Given the description of an element on the screen output the (x, y) to click on. 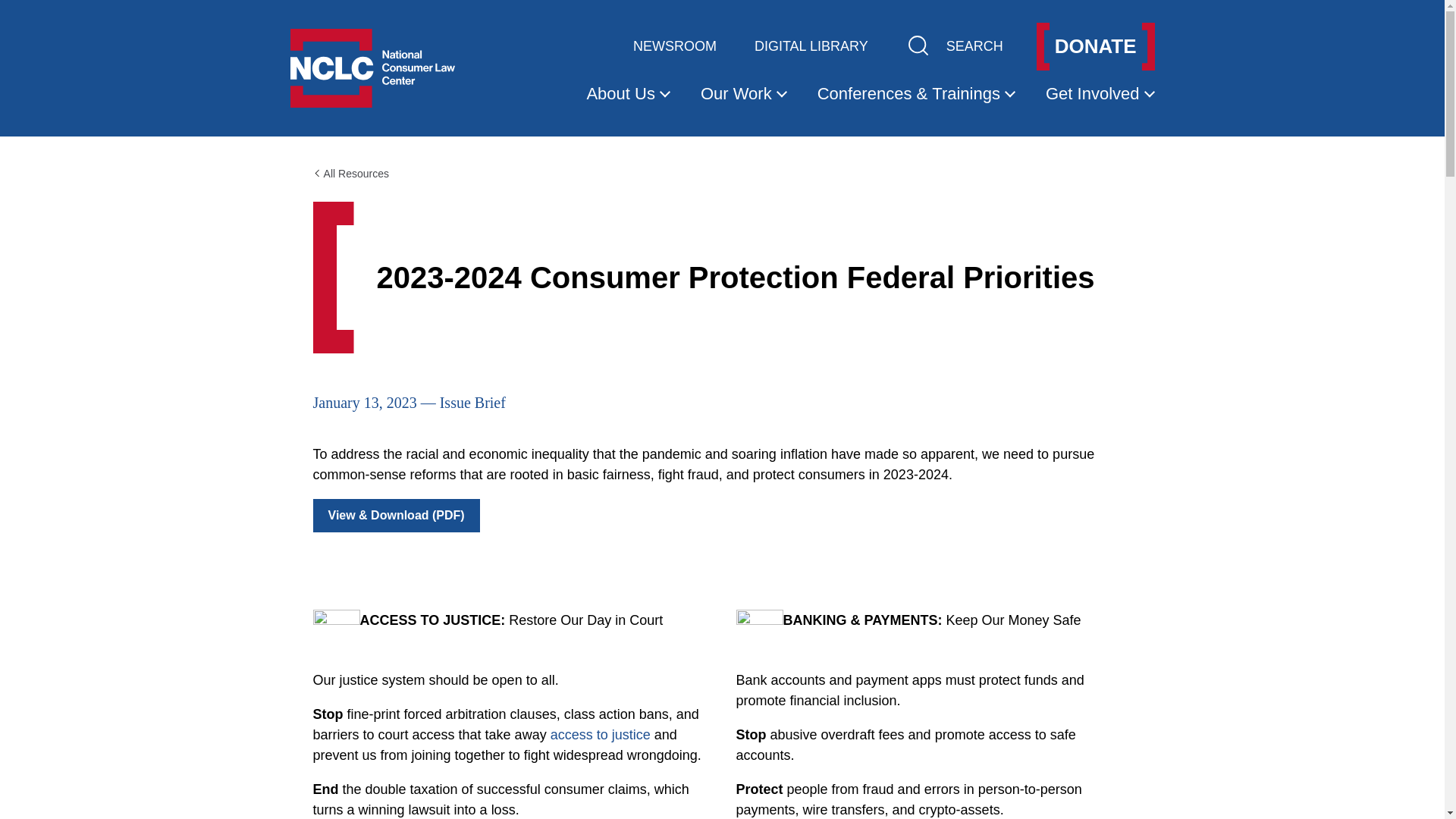
All Resources (350, 173)
NEWSROOM (674, 46)
NCLC (371, 67)
DIGITAL LIBRARY (810, 46)
DONATE (1095, 46)
Our Work (743, 93)
Submit search (917, 46)
access to justice (600, 734)
Get Involved (1100, 93)
About Us (627, 93)
